Given the description of an element on the screen output the (x, y) to click on. 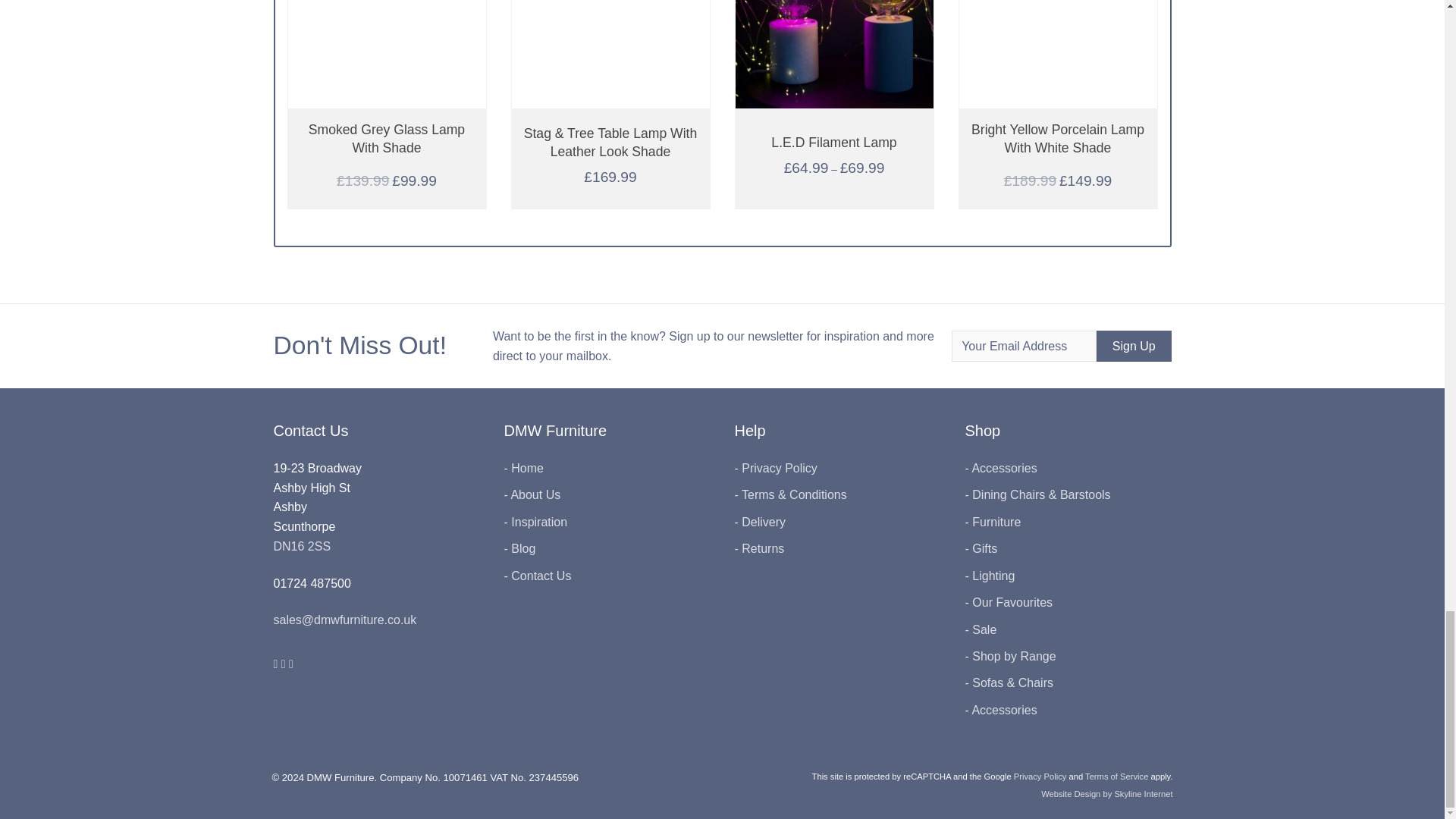
Sign Up (1134, 346)
